Given the description of an element on the screen output the (x, y) to click on. 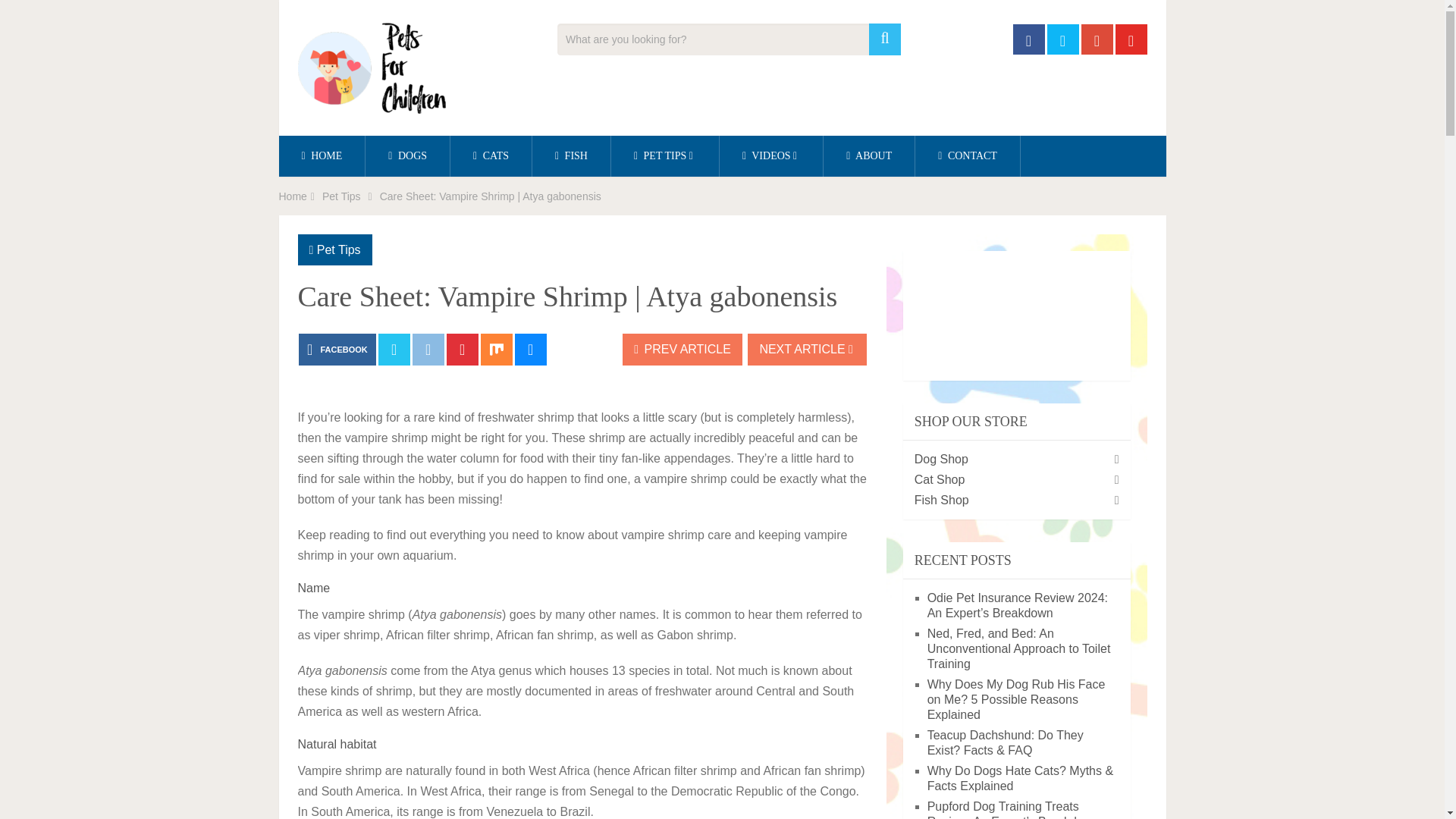
Pet Tips (341, 196)
View all posts in Pet Tips (339, 249)
VIDEOS (770, 155)
Home (293, 196)
FACEBOOK (336, 349)
PET TIPS (665, 155)
Pet Tips (339, 249)
CATS (490, 155)
NEXT ARTICLE (807, 349)
CONTACT (967, 155)
PREV ARTICLE (682, 349)
ABOUT (869, 155)
HOME (322, 155)
DOGS (407, 155)
FISH (571, 155)
